Given the description of an element on the screen output the (x, y) to click on. 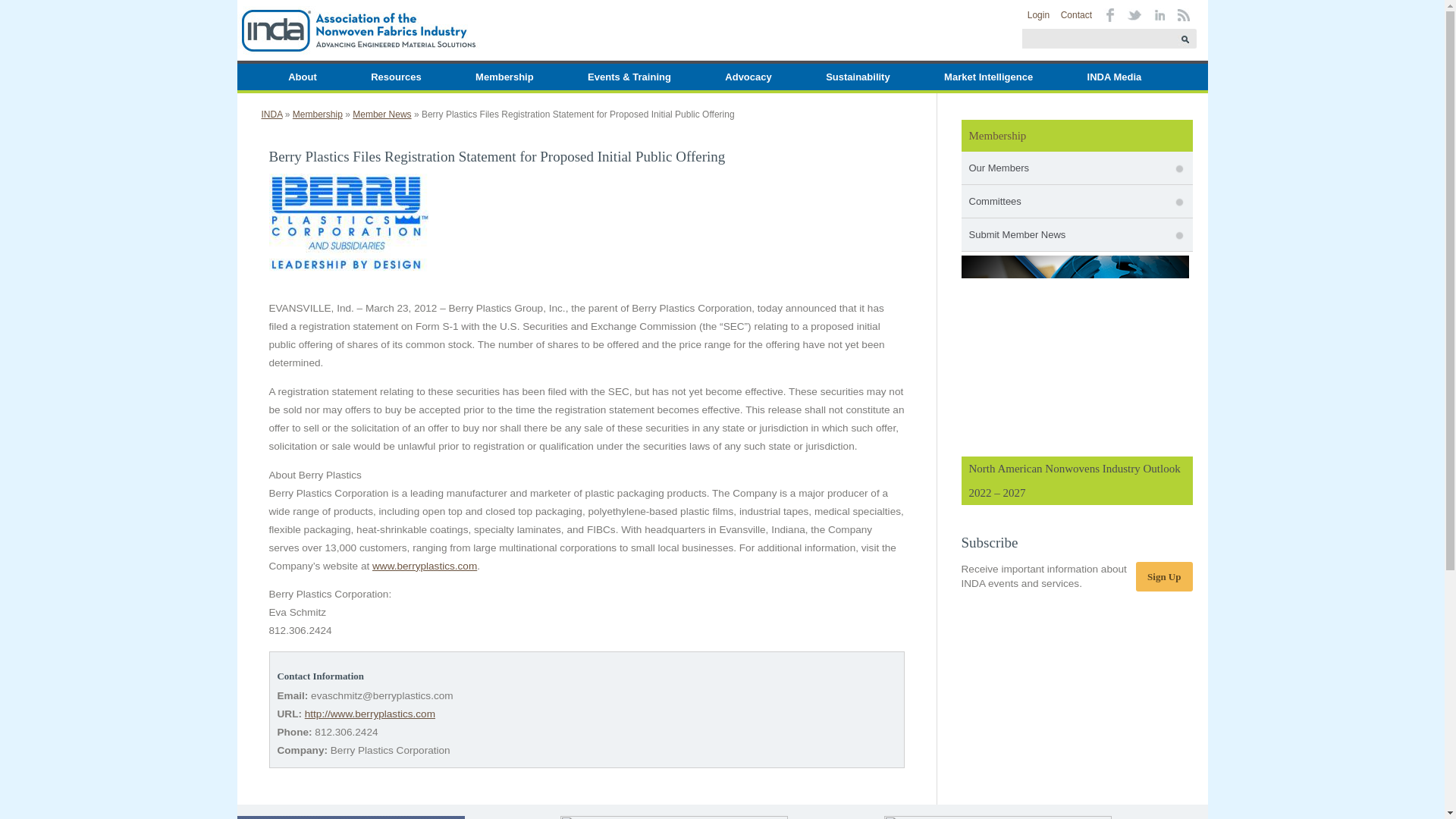
Berry Plastics (424, 565)
Login (1038, 14)
Go to Membership. (317, 113)
About (302, 76)
INDA LOGO (357, 30)
Resources (395, 76)
Go to Member News. (381, 113)
Contact (1076, 14)
Go to INDA. (271, 113)
